Given the description of an element on the screen output the (x, y) to click on. 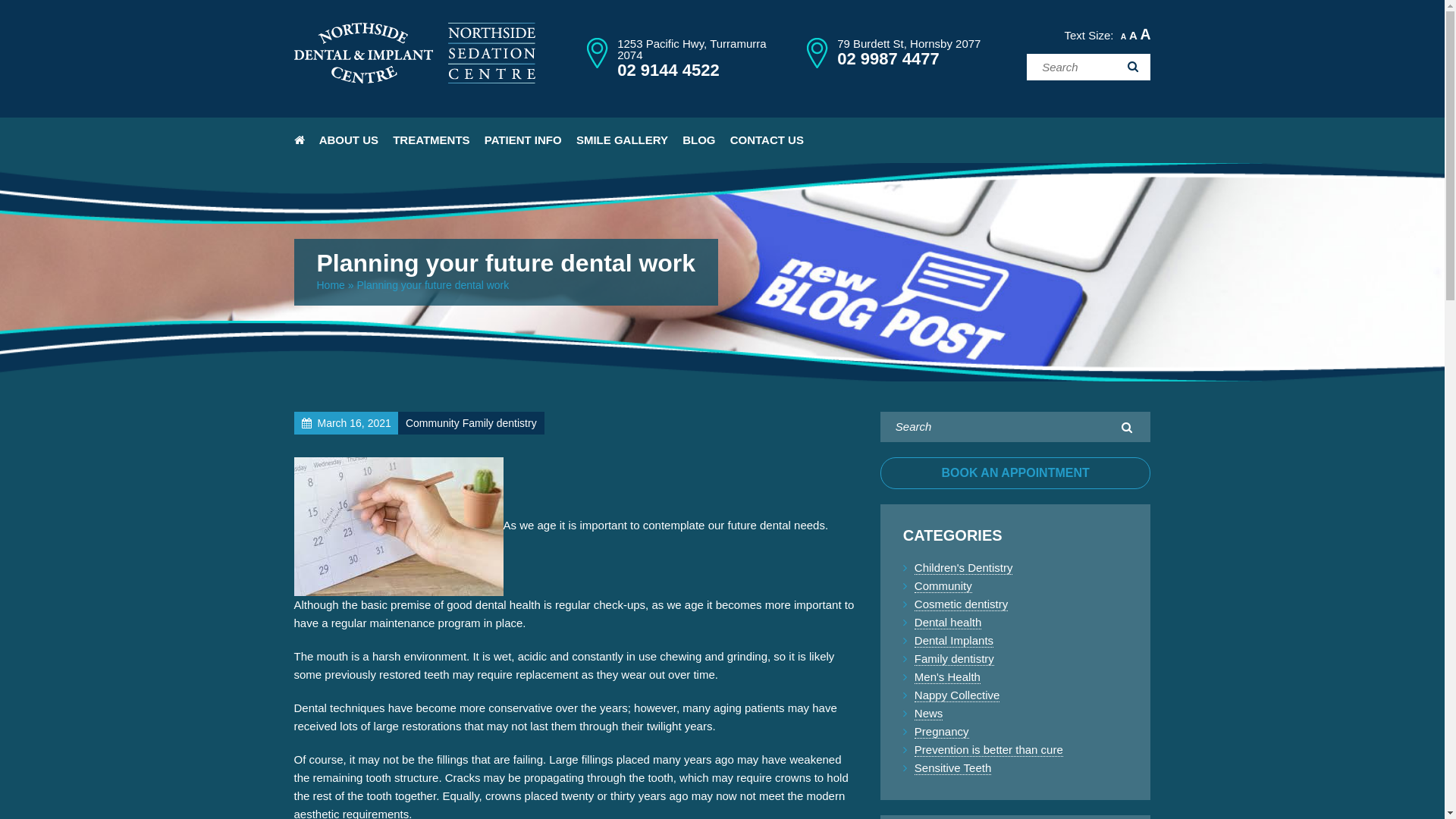
BLOG Element type: text (698, 140)
Dental Implants Element type: text (953, 640)
A Element type: text (1132, 34)
CONTACT US Element type: text (766, 140)
Community Element type: text (943, 586)
TREATMENTS Element type: text (430, 140)
02 9144 4522 Element type: text (668, 69)
Children's Dentistry Element type: text (963, 567)
News Element type: text (928, 713)
A Element type: text (1123, 35)
Men's Health Element type: text (947, 677)
PATIENT INFO Element type: text (522, 140)
02 9987 4477 Element type: text (888, 58)
Sensitive Teeth Element type: text (952, 768)
Family dentistry Element type: text (954, 658)
Nappy Collective Element type: text (957, 695)
BOOK AN APPOINTMENT Element type: text (1015, 473)
SMILE GALLERY Element type: text (622, 140)
Home Element type: text (330, 285)
ABOUT US Element type: text (348, 140)
Cosmetic dentistry Element type: text (960, 604)
A Element type: text (1144, 33)
Prevention is better than cure Element type: text (988, 749)
Pregnancy Element type: text (941, 731)
Dental health Element type: text (947, 622)
